Given the description of an element on the screen output the (x, y) to click on. 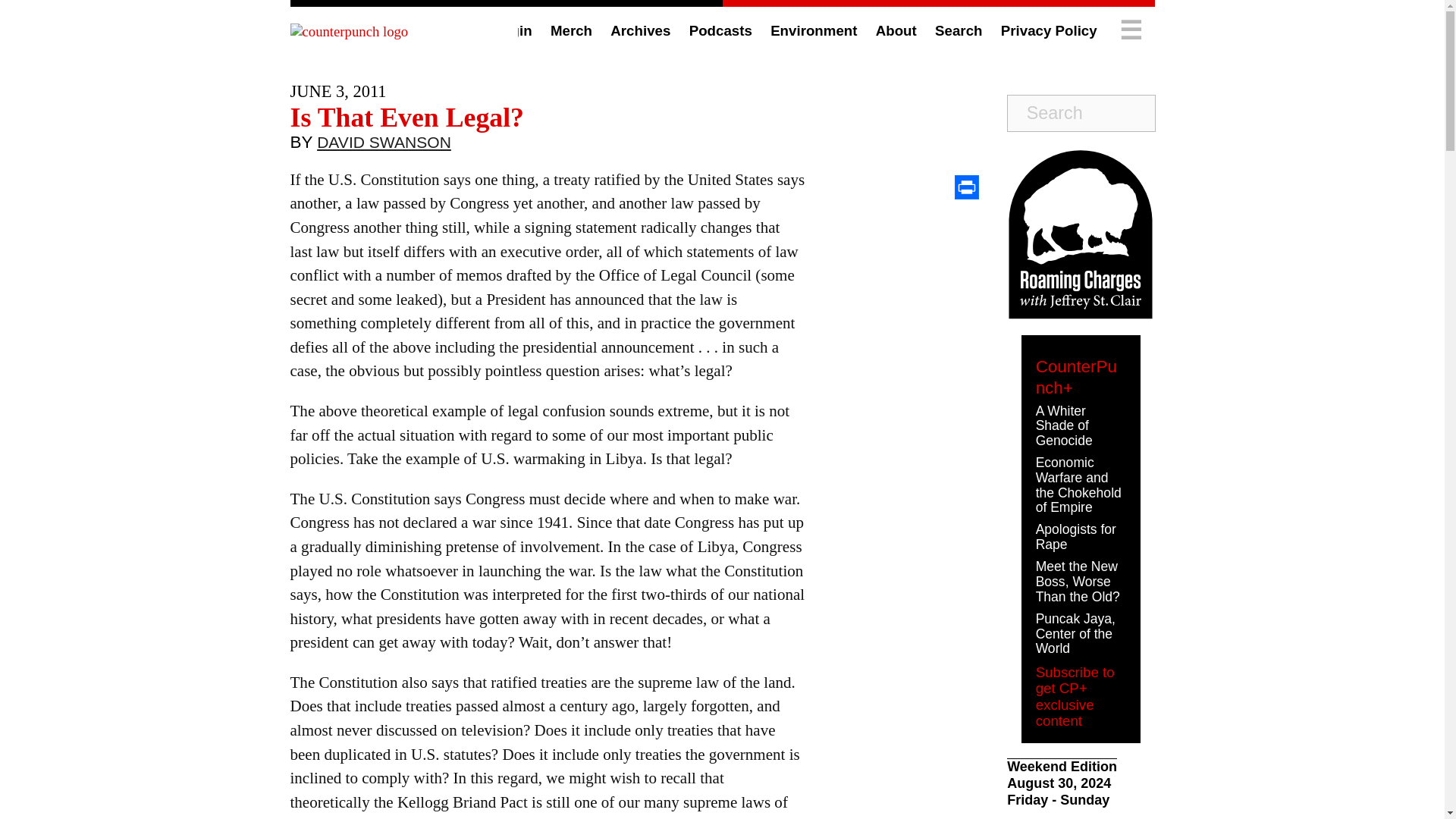
Podcasts (720, 30)
Privacy Policy (1049, 30)
DAVID SWANSON (384, 145)
Merch (571, 30)
Login (512, 30)
Search (957, 30)
Environment (813, 30)
Is That Even Legal? (406, 117)
About (896, 30)
Print This Post (966, 187)
